Given the description of an element on the screen output the (x, y) to click on. 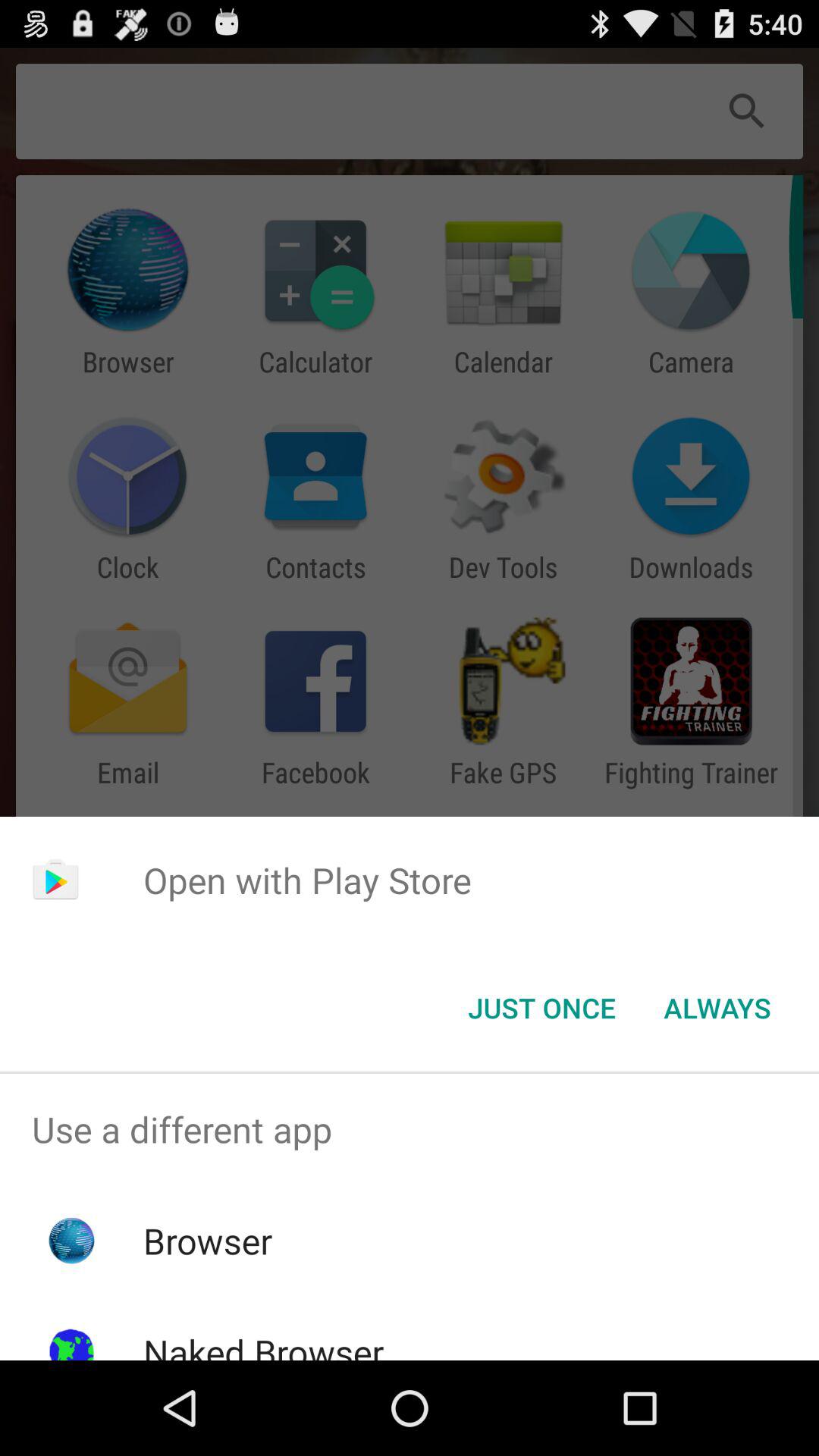
select the item next to the just once icon (717, 1007)
